Given the description of an element on the screen output the (x, y) to click on. 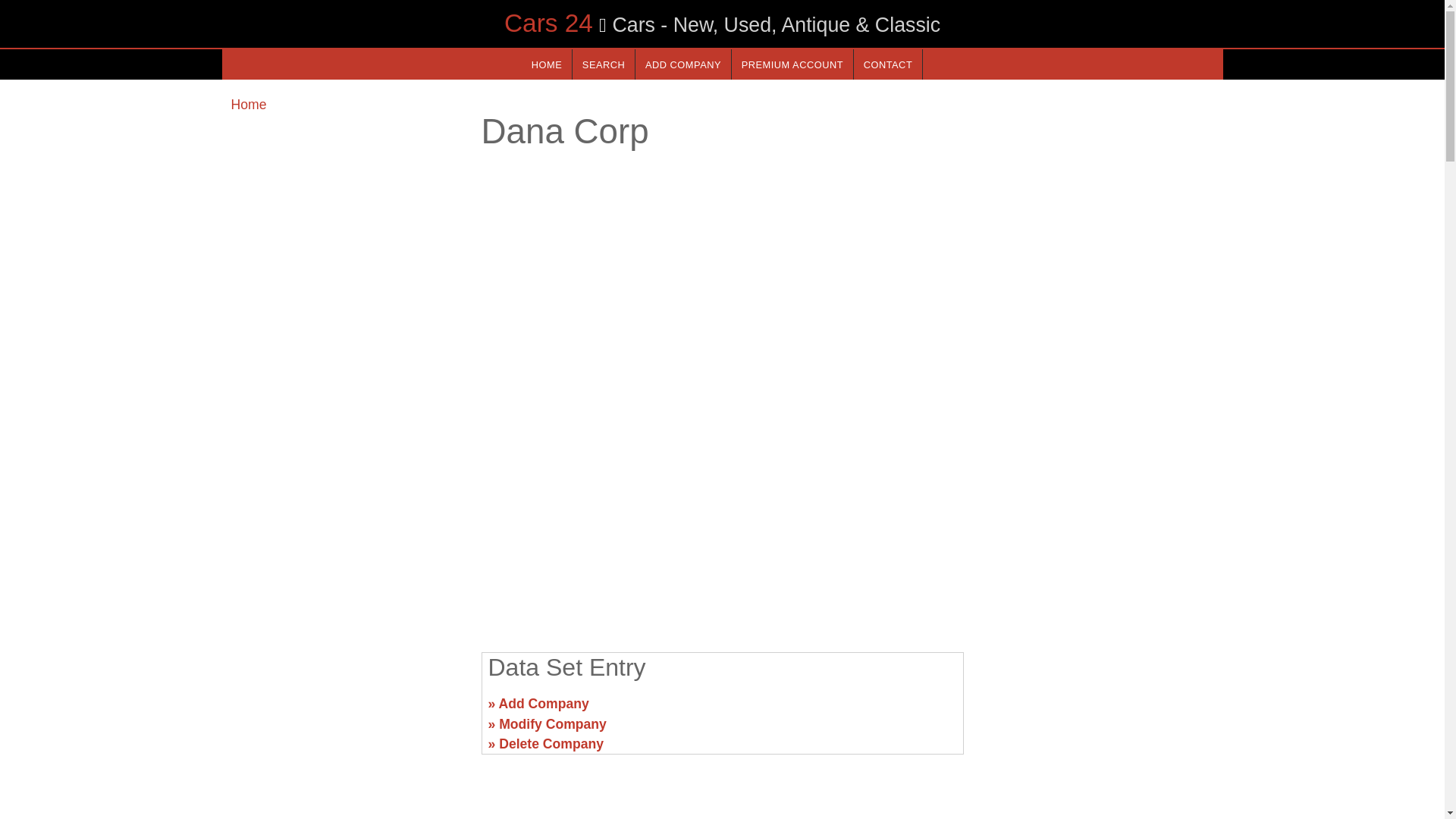
Home (248, 104)
PREMIUM ACCOUNT (792, 64)
Search in this webseite. (603, 64)
Advertisement (721, 522)
HOME (546, 64)
CONTACT (887, 64)
Premium account (792, 64)
Advertisement (346, 710)
Advertisement (1096, 710)
ADD COMPANY (682, 64)
